Given the description of an element on the screen output the (x, y) to click on. 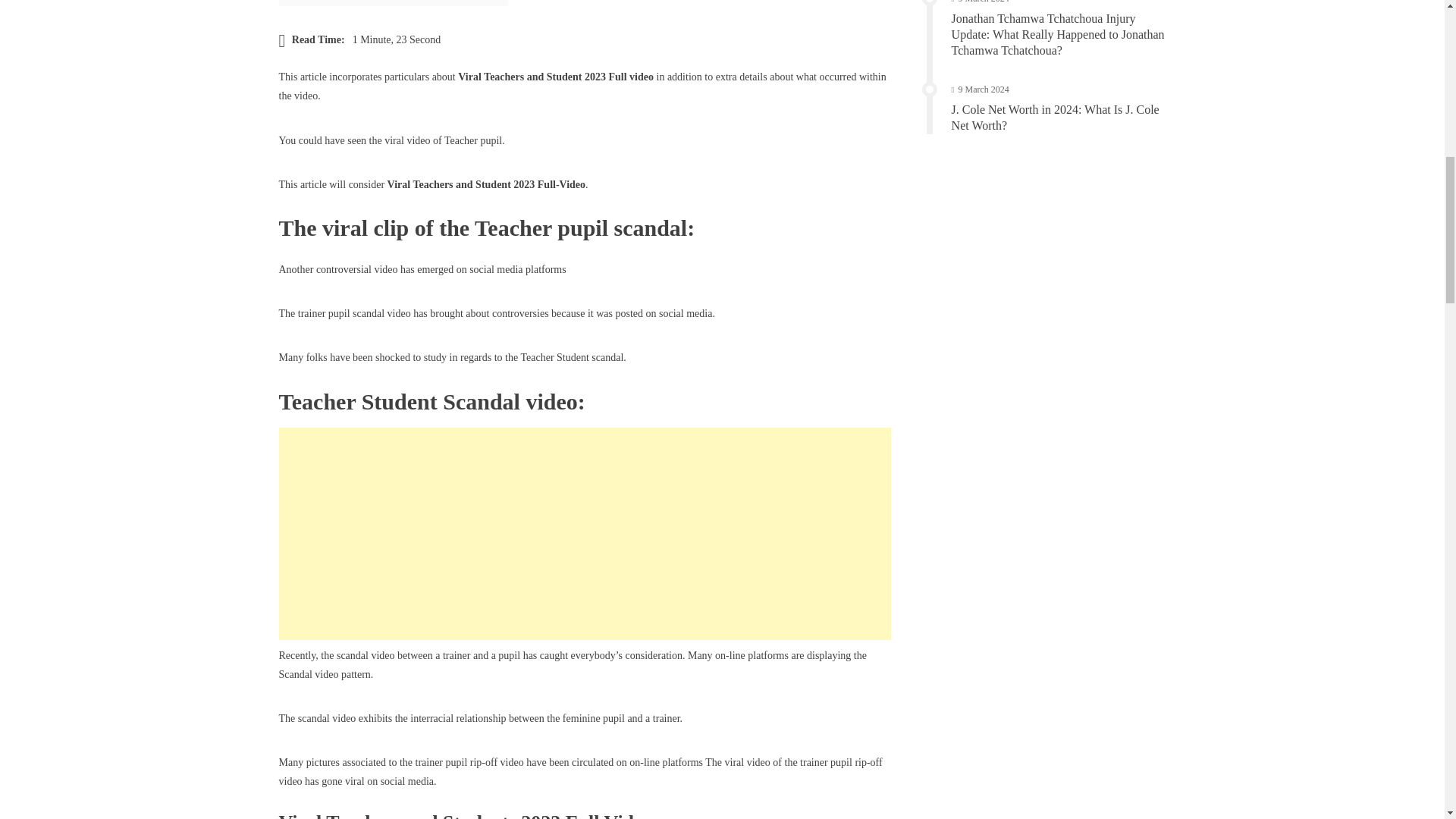
Advertisement (585, 533)
